Given the description of an element on the screen output the (x, y) to click on. 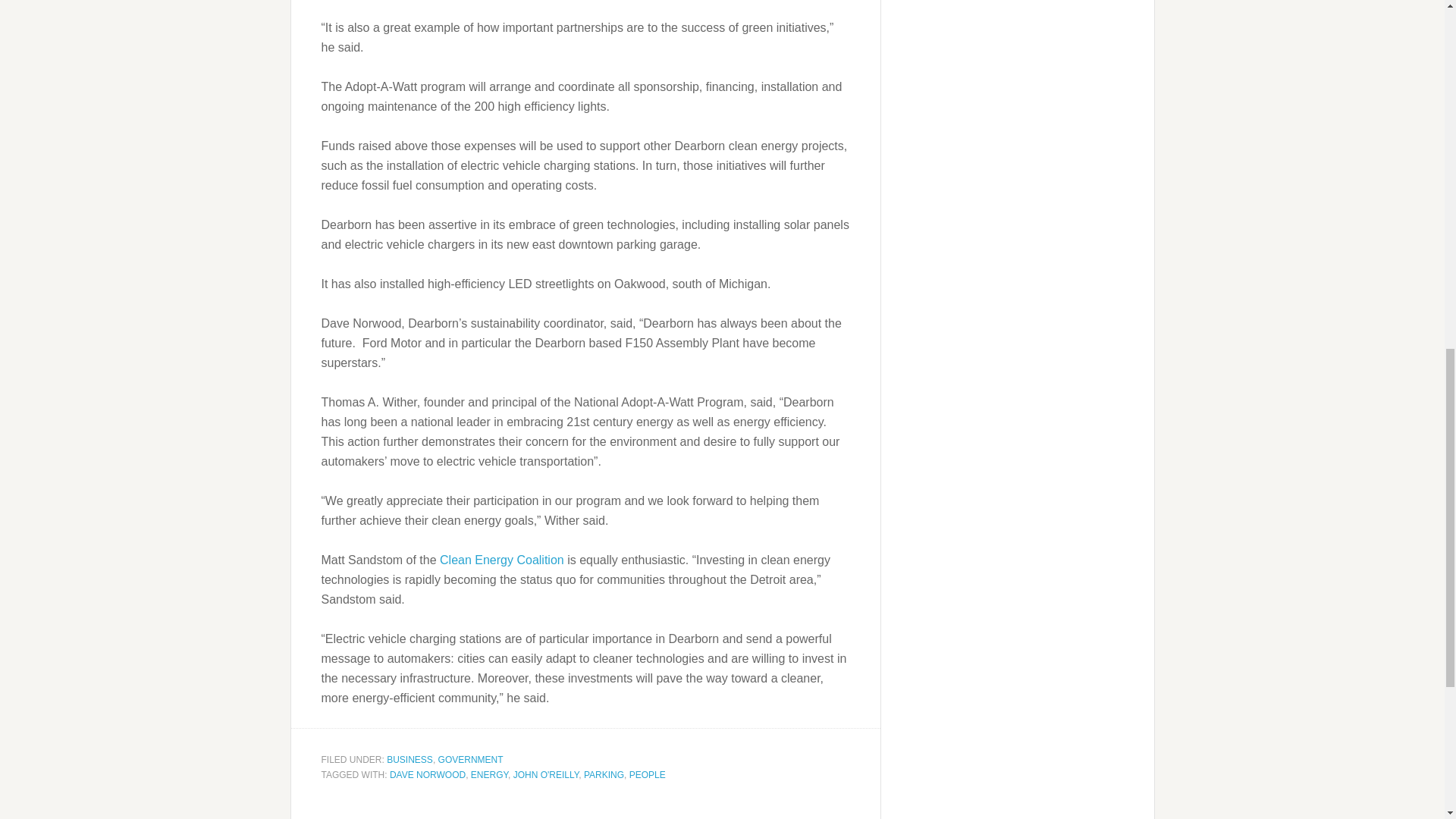
PARKING (603, 774)
PEOPLE (646, 774)
ENERGY (489, 774)
JOHN O'REILLY (546, 774)
BUSINESS (409, 759)
GOVERNMENT (470, 759)
Clean Energy Coalition (501, 559)
DAVE NORWOOD (427, 774)
